Given the description of an element on the screen output the (x, y) to click on. 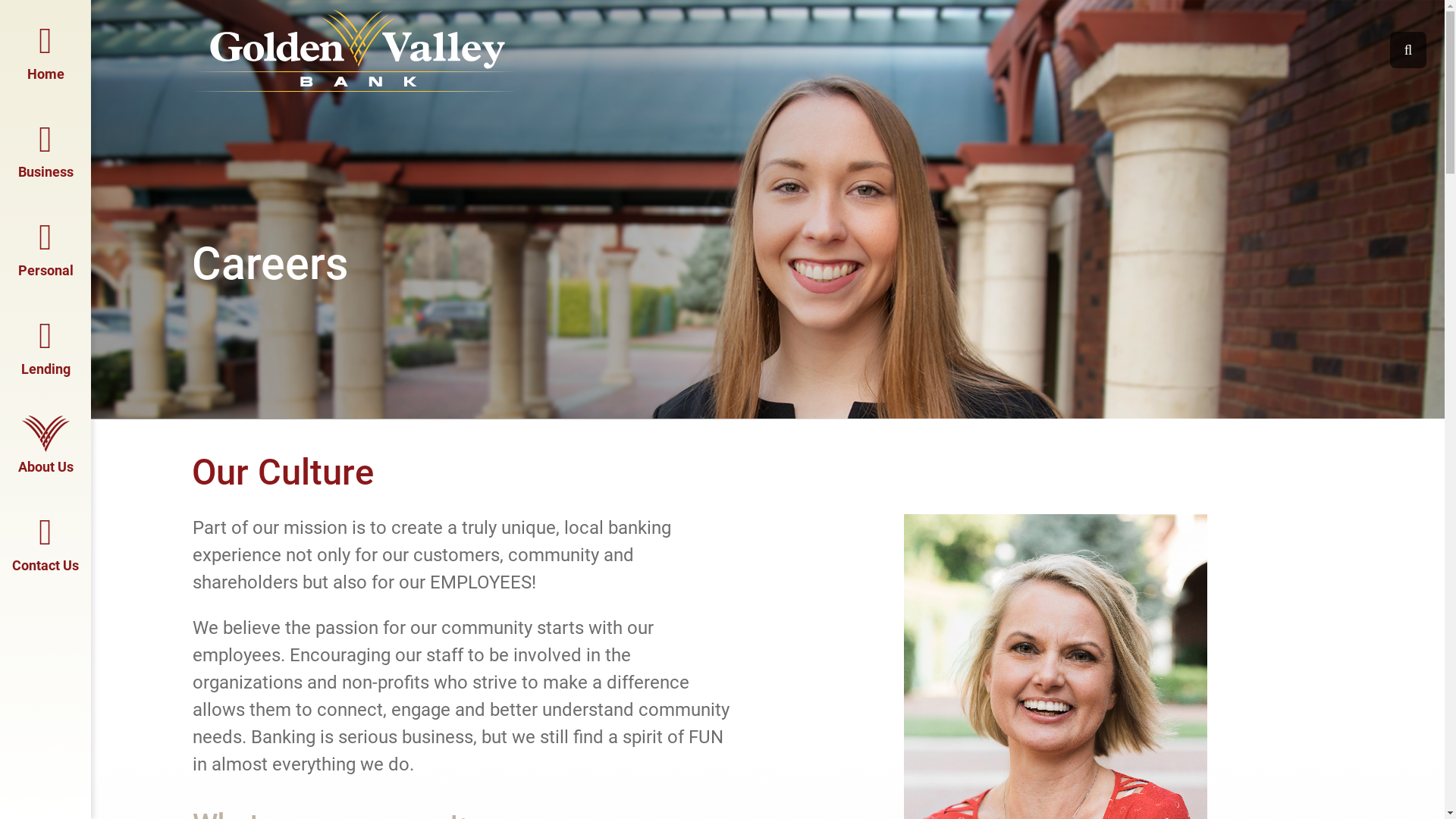
Contact Us Element type: text (45, 540)
Home Element type: text (45, 48)
About Us Element type: text (45, 441)
Business Element type: text (45, 147)
Lending Element type: text (45, 343)
Personal Element type: text (45, 245)
